Given the description of an element on the screen output the (x, y) to click on. 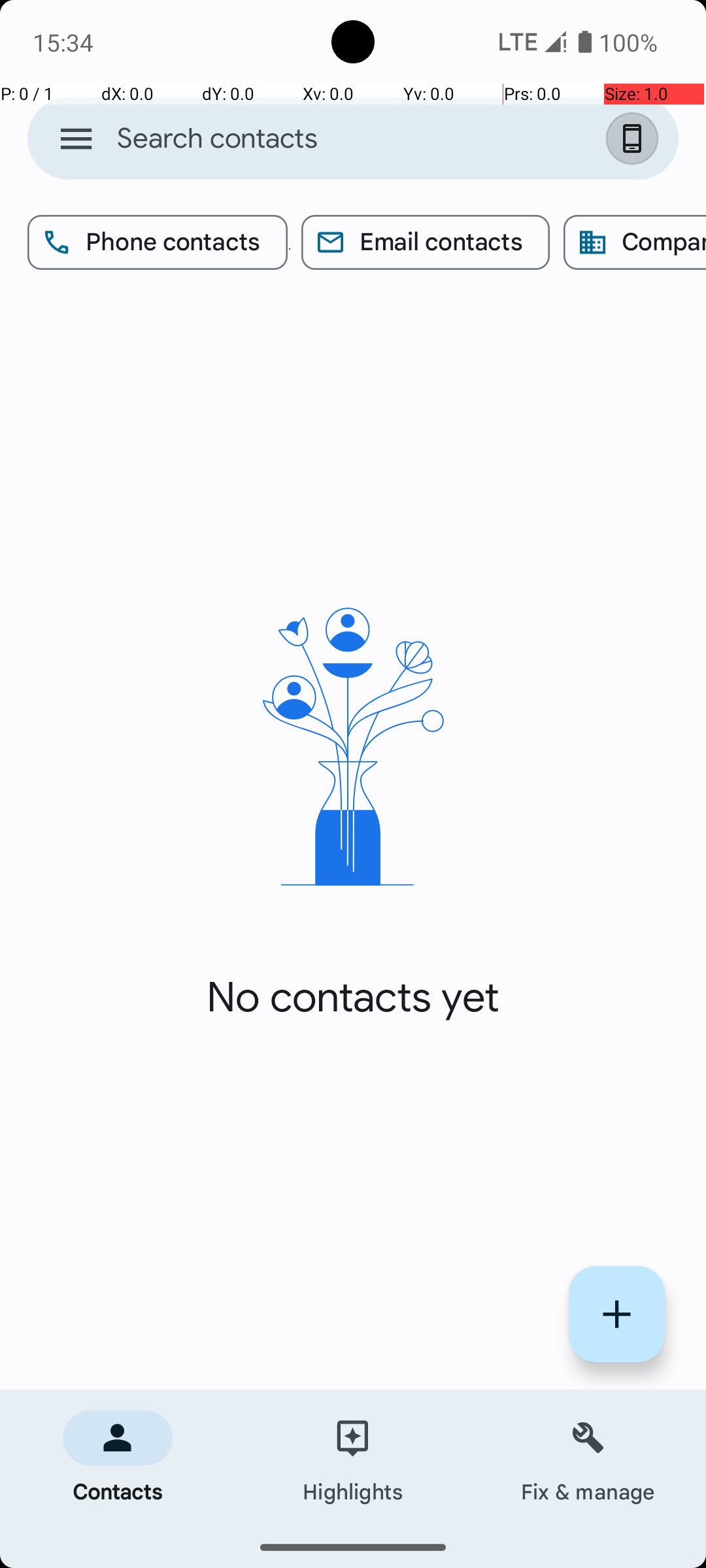
No contacts yet Element type: android.widget.TextView (353, 997)
